Given the description of an element on the screen output the (x, y) to click on. 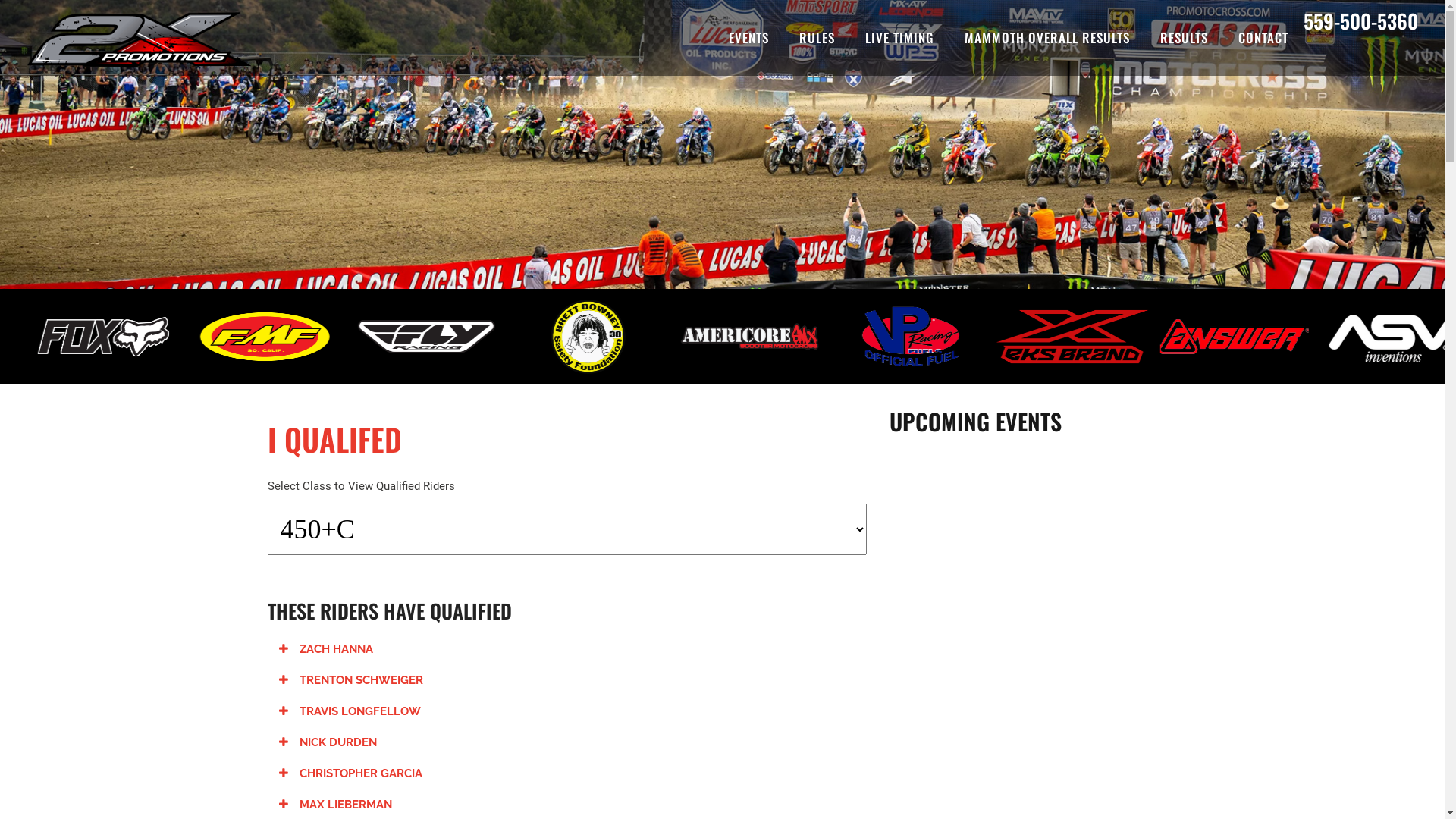
TRENTON SCHWEIGER Element type: text (351, 680)
CONTACT Element type: text (1263, 37)
TRAVIS LONGFELLOW Element type: text (349, 711)
EVENTS Element type: text (748, 37)
RESULTS Element type: text (1184, 37)
MAMMOTH OVERALL RESULTS Element type: text (1047, 37)
RULES Element type: text (817, 37)
ZACH HANNA Element type: text (326, 648)
LIVE TIMING Element type: text (899, 37)
CHRISTOPHER GARCIA Element type: text (350, 773)
NICK DURDEN Element type: text (327, 742)
559-500-5360 Element type: text (1360, 20)
MAX LIEBERMAN Element type: text (335, 804)
